Given the description of an element on the screen output the (x, y) to click on. 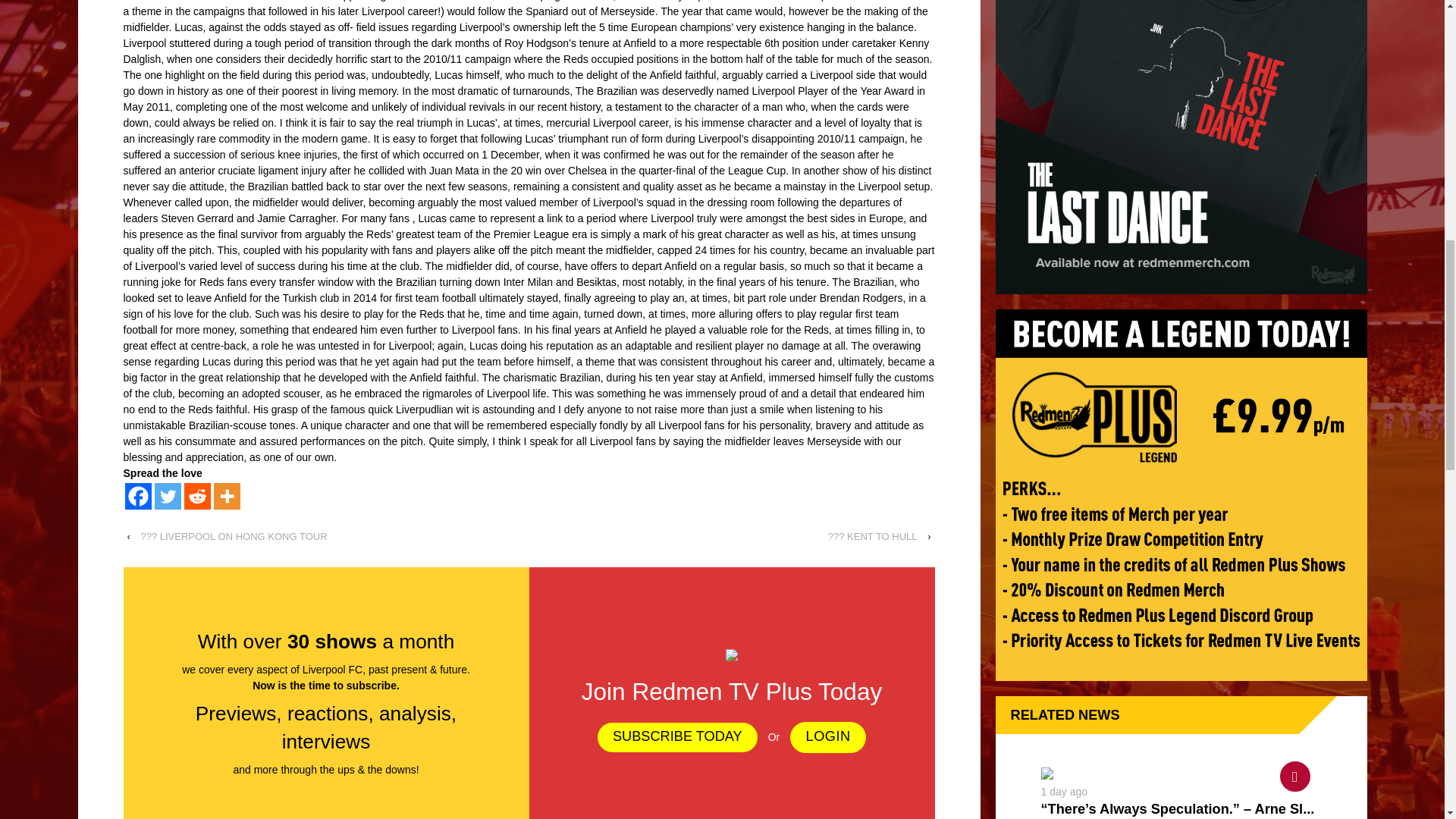
LOGIN (828, 736)
More (227, 496)
SUBSCRIBE TODAY (676, 737)
Twitter (167, 496)
Facebook (137, 496)
Reddit (196, 496)
